Given the description of an element on the screen output the (x, y) to click on. 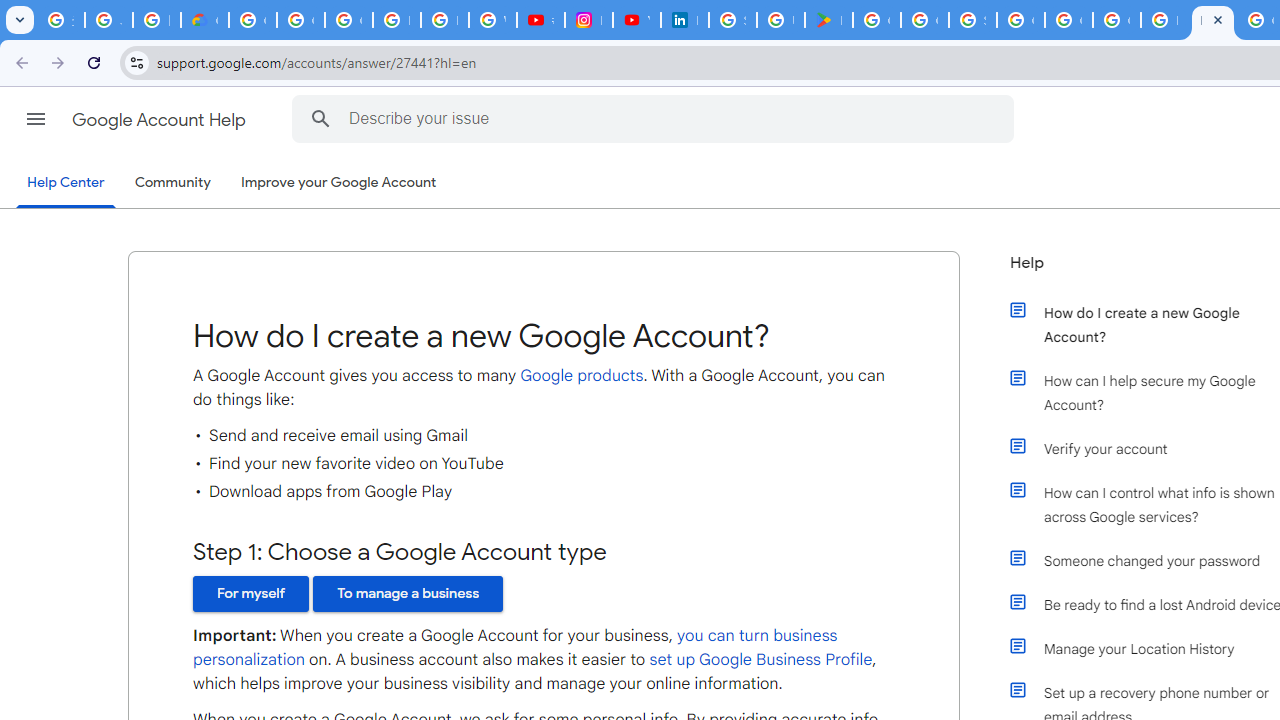
Last Shelter: Survival - Apps on Google Play (828, 20)
you can turn business personalization (515, 647)
Google Account Help (160, 119)
Improve your Google Account (339, 183)
